Given the description of an element on the screen output the (x, y) to click on. 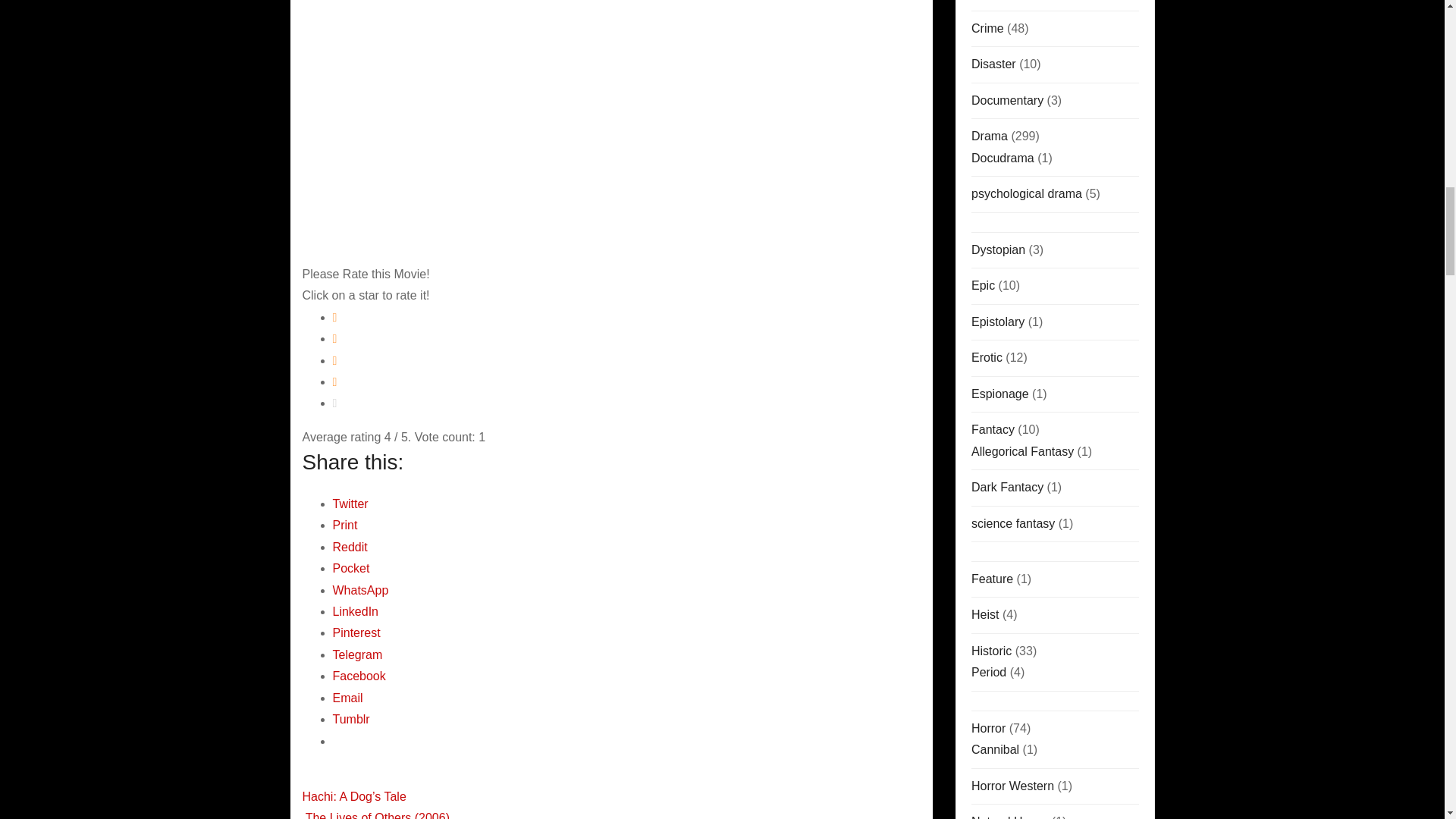
Click to print (343, 524)
Reddit (348, 546)
WhatsApp (359, 590)
Telegram (356, 654)
LinkedIn (354, 611)
Print (343, 524)
Click to share on Twitter (349, 503)
Pocket (350, 567)
Pinterest (355, 632)
Twitter (349, 503)
